Given the description of an element on the screen output the (x, y) to click on. 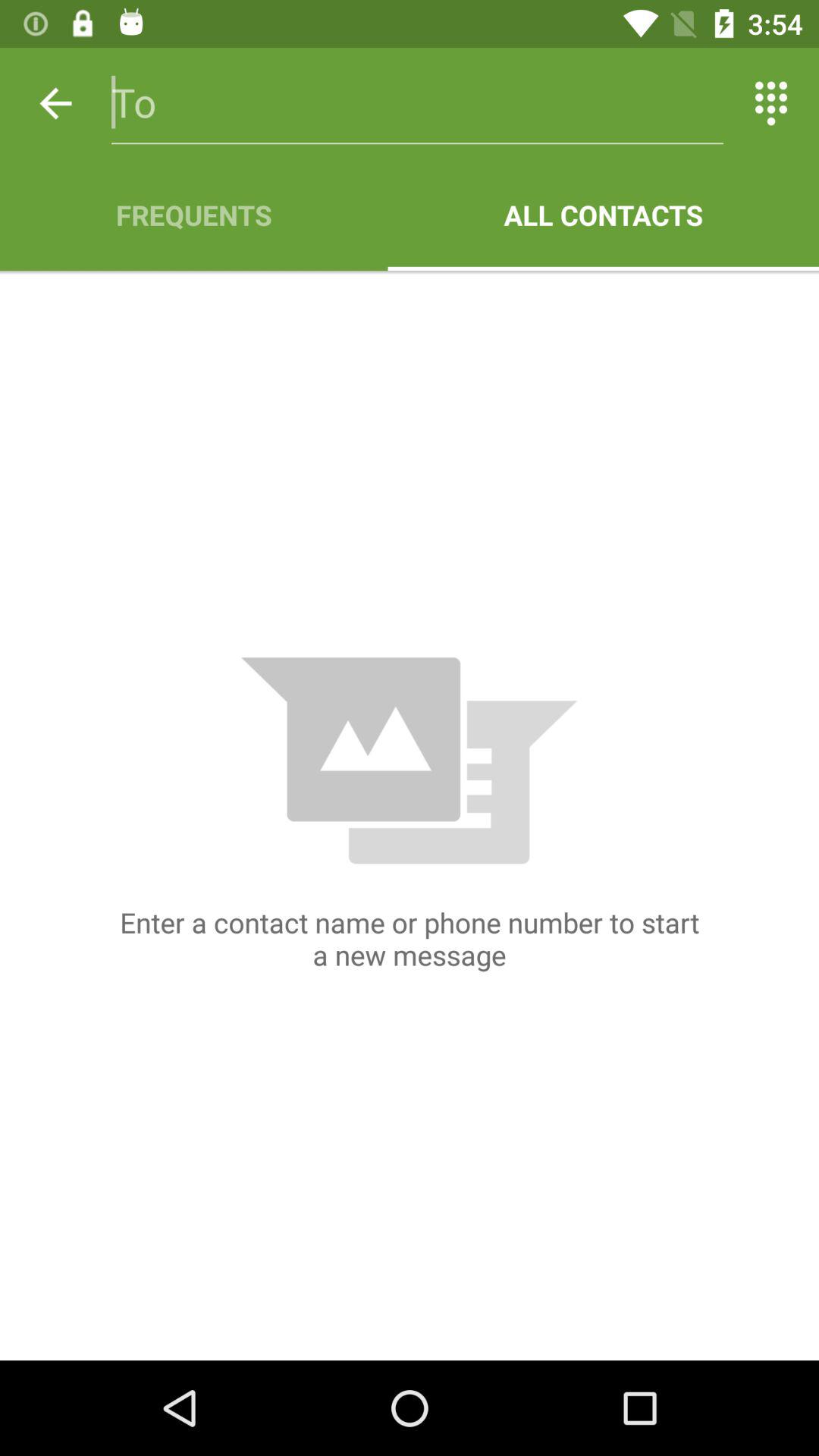
click item next to all contacts app (193, 214)
